Given the description of an element on the screen output the (x, y) to click on. 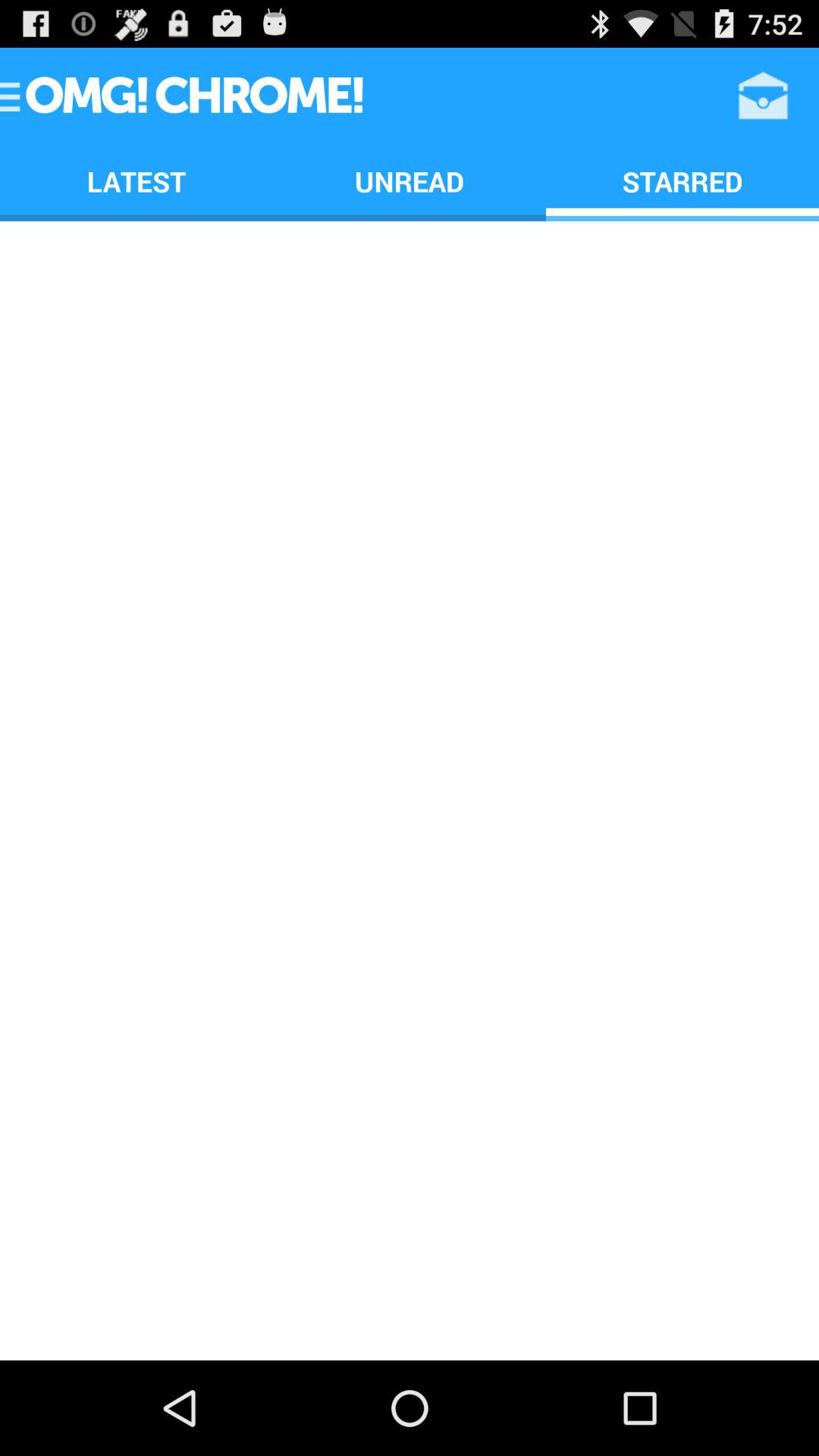
turn off latest (136, 181)
